Given the description of an element on the screen output the (x, y) to click on. 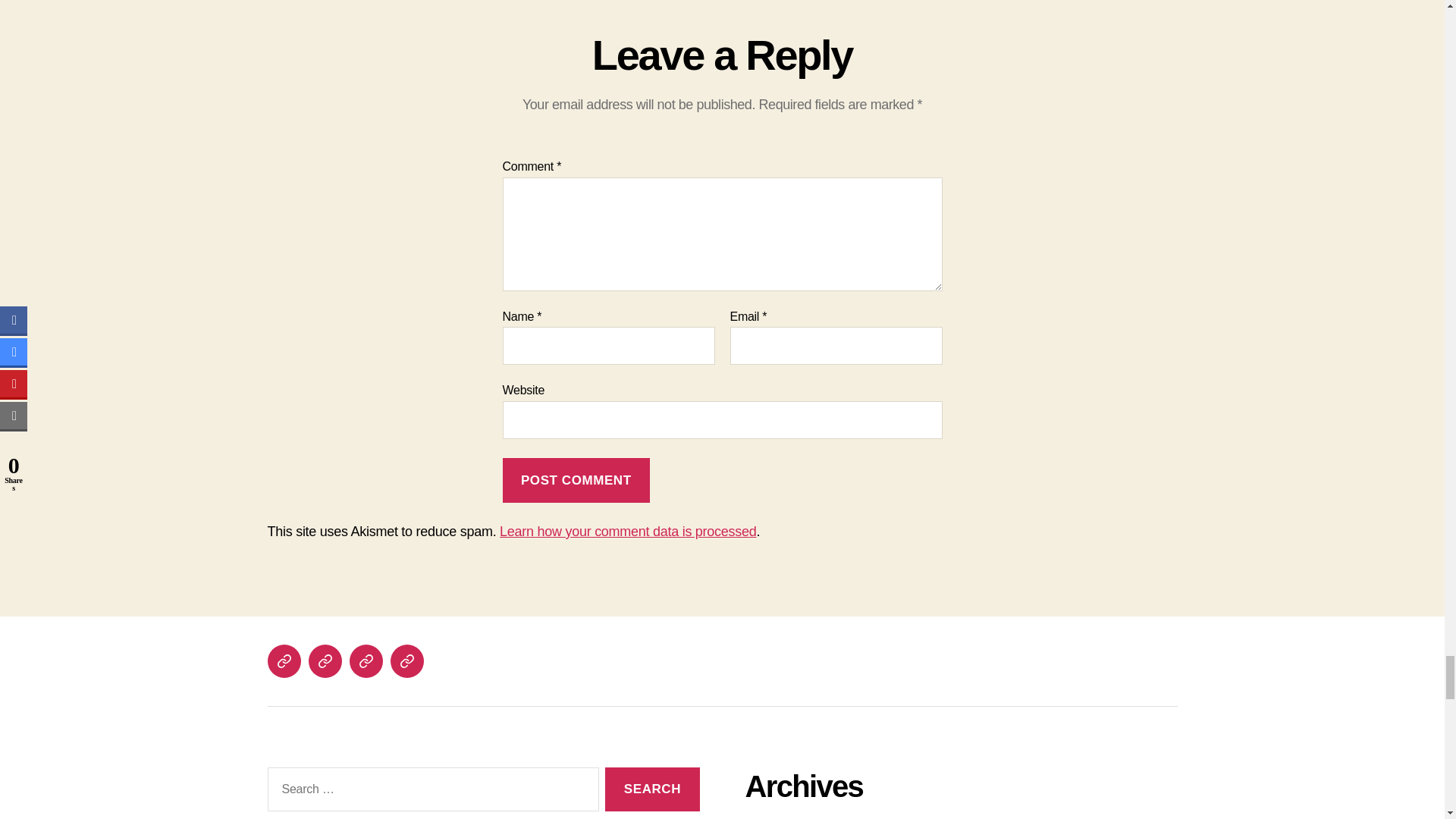
Search (651, 789)
Post Comment (575, 479)
Search (651, 789)
